Given the description of an element on the screen output the (x, y) to click on. 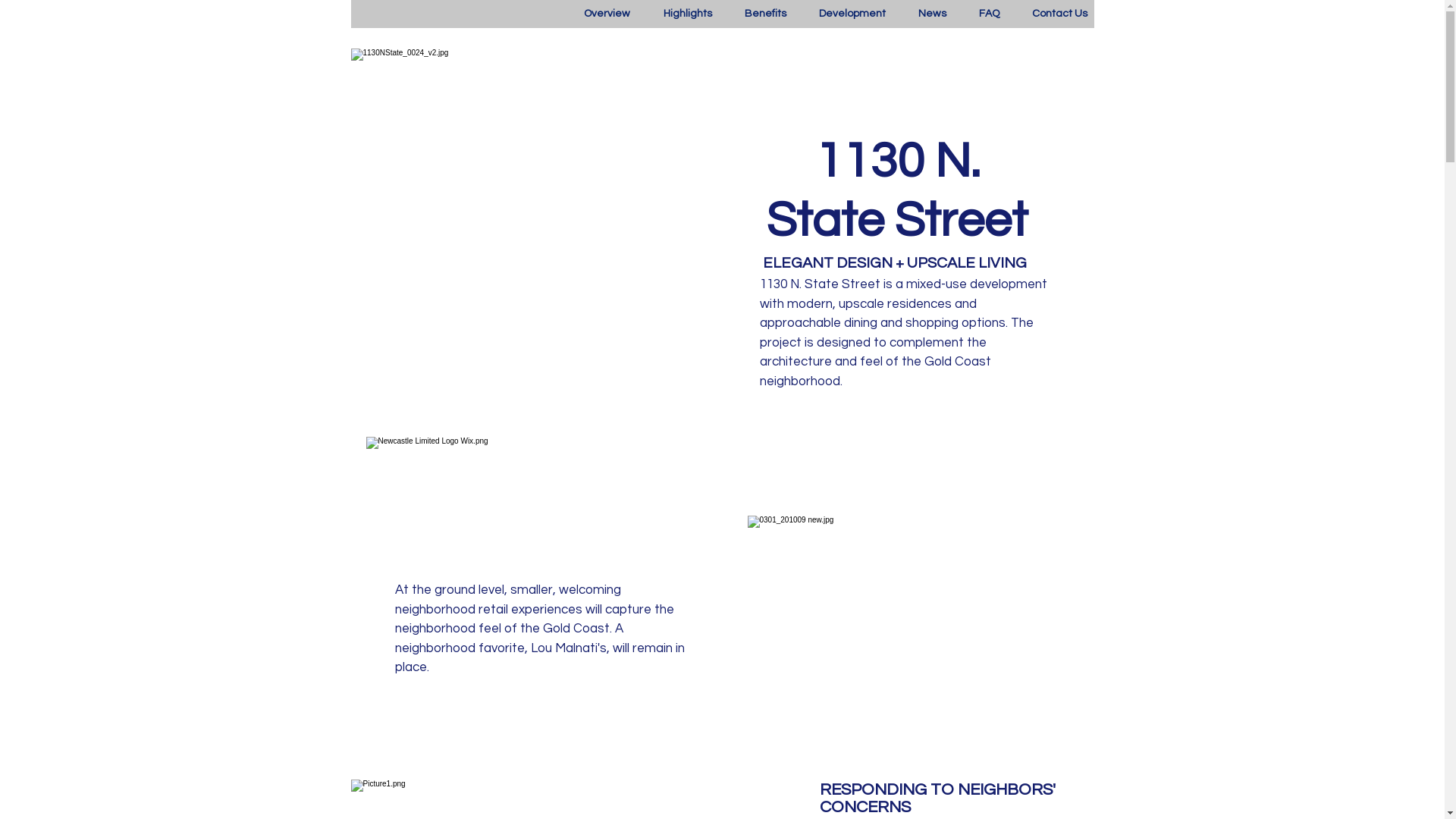
News Element type: text (919, 13)
Development Element type: text (838, 13)
Highlights Element type: text (674, 13)
FAQ Element type: text (976, 13)
Overview Element type: text (594, 13)
Contact Us Element type: text (1047, 13)
Benefits Element type: text (751, 13)
